Given the description of an element on the screen output the (x, y) to click on. 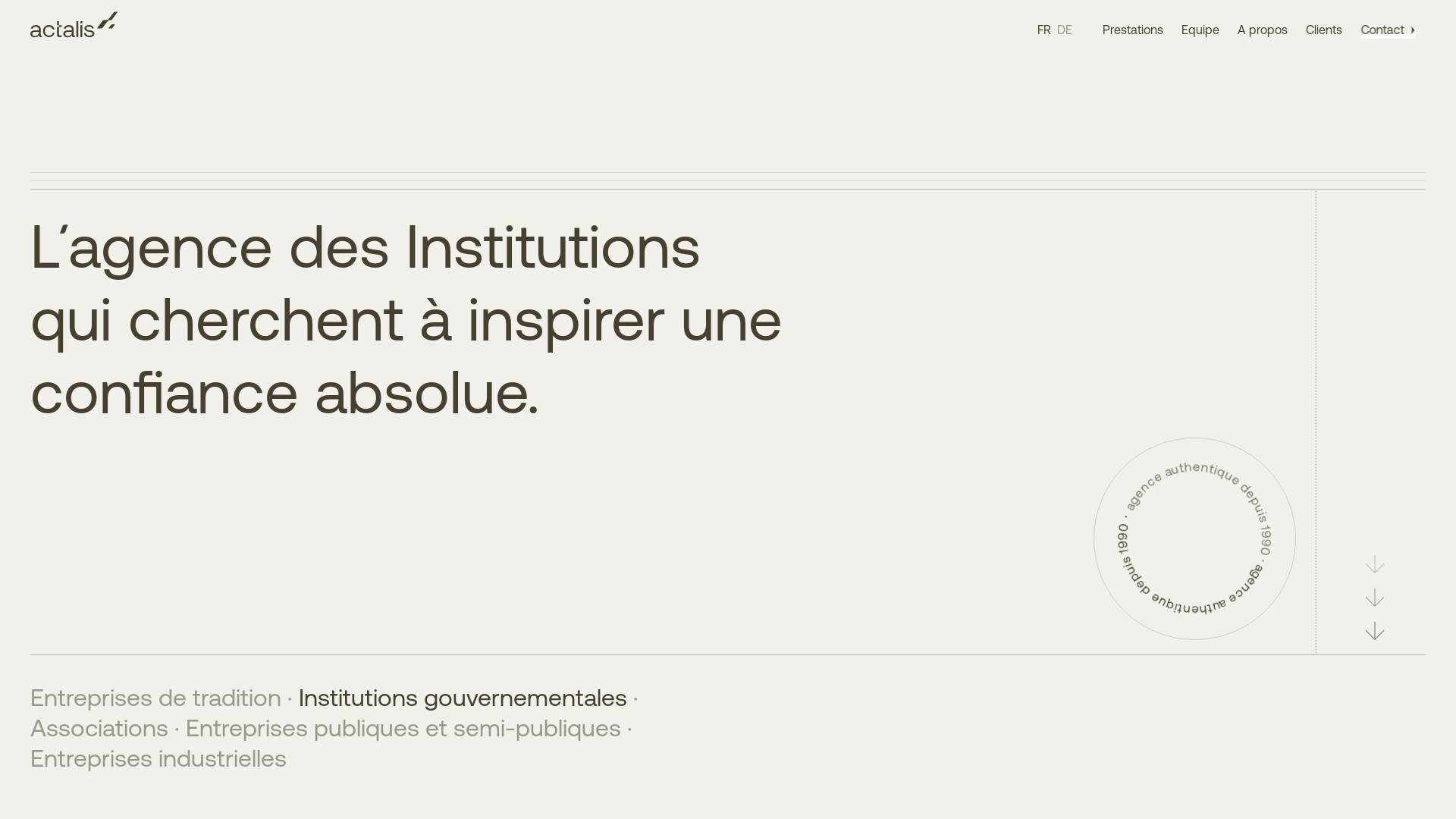
direction@actalis.ch Element type: text (678, 773)
DE Element type: text (1064, 29)
Clients Element type: text (1323, 29)
Contact Element type: text (1392, 29)
Equipe Element type: text (1200, 29)
LinkedIn Element type: text (203, 741)
+41 26 424 33 15 Element type: text (678, 757)
FR Element type: text (1044, 29)
A propos Element type: text (1262, 29)
Prestations Element type: text (1132, 29)
Instagram Element type: text (278, 741)
Contactez-nous Element type: text (276, 473)
